Given the description of an element on the screen output the (x, y) to click on. 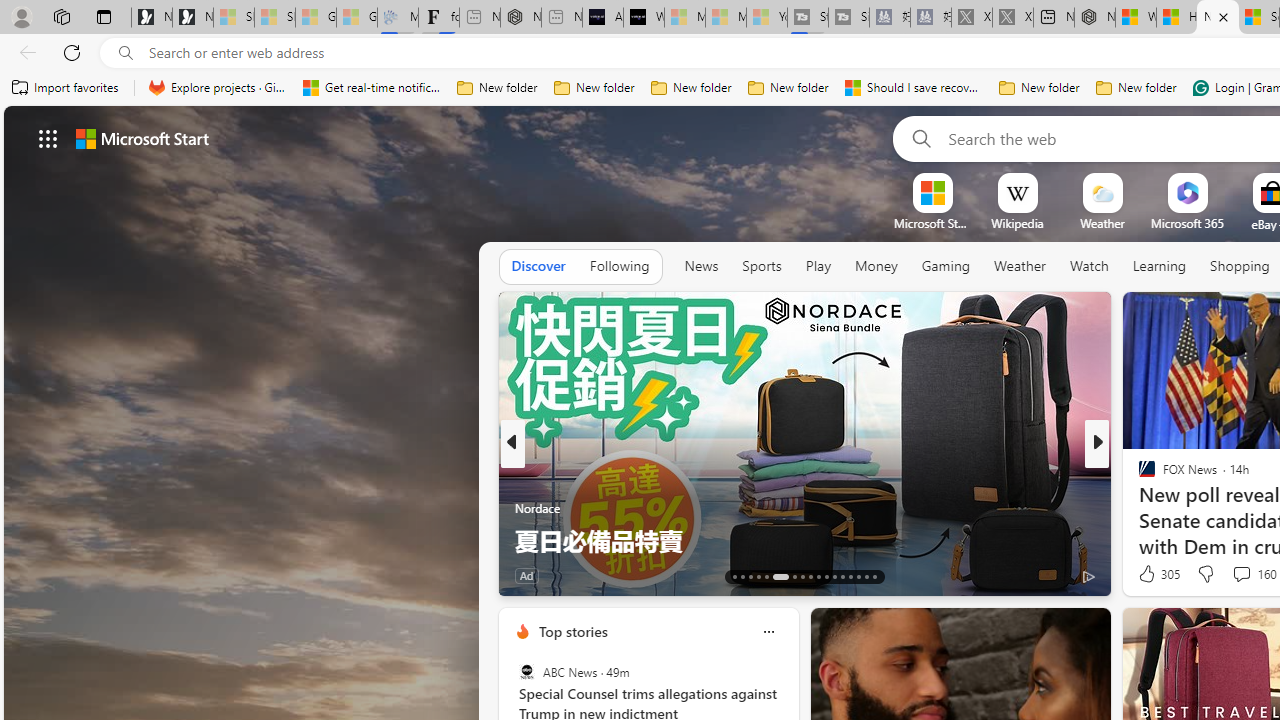
AutomationID: tab-22 (818, 576)
AutomationID: tab-23 (825, 576)
Microsoft start (142, 138)
ABC News (526, 672)
Learning (1159, 267)
Top stories (572, 631)
View comments 26 Comment (1229, 575)
Shopping (1240, 265)
Play (818, 267)
Sports (761, 265)
View comments 61 Comment (11, 575)
Weather (1020, 265)
View comments 160 Comment (1241, 573)
